Given the description of an element on the screen output the (x, y) to click on. 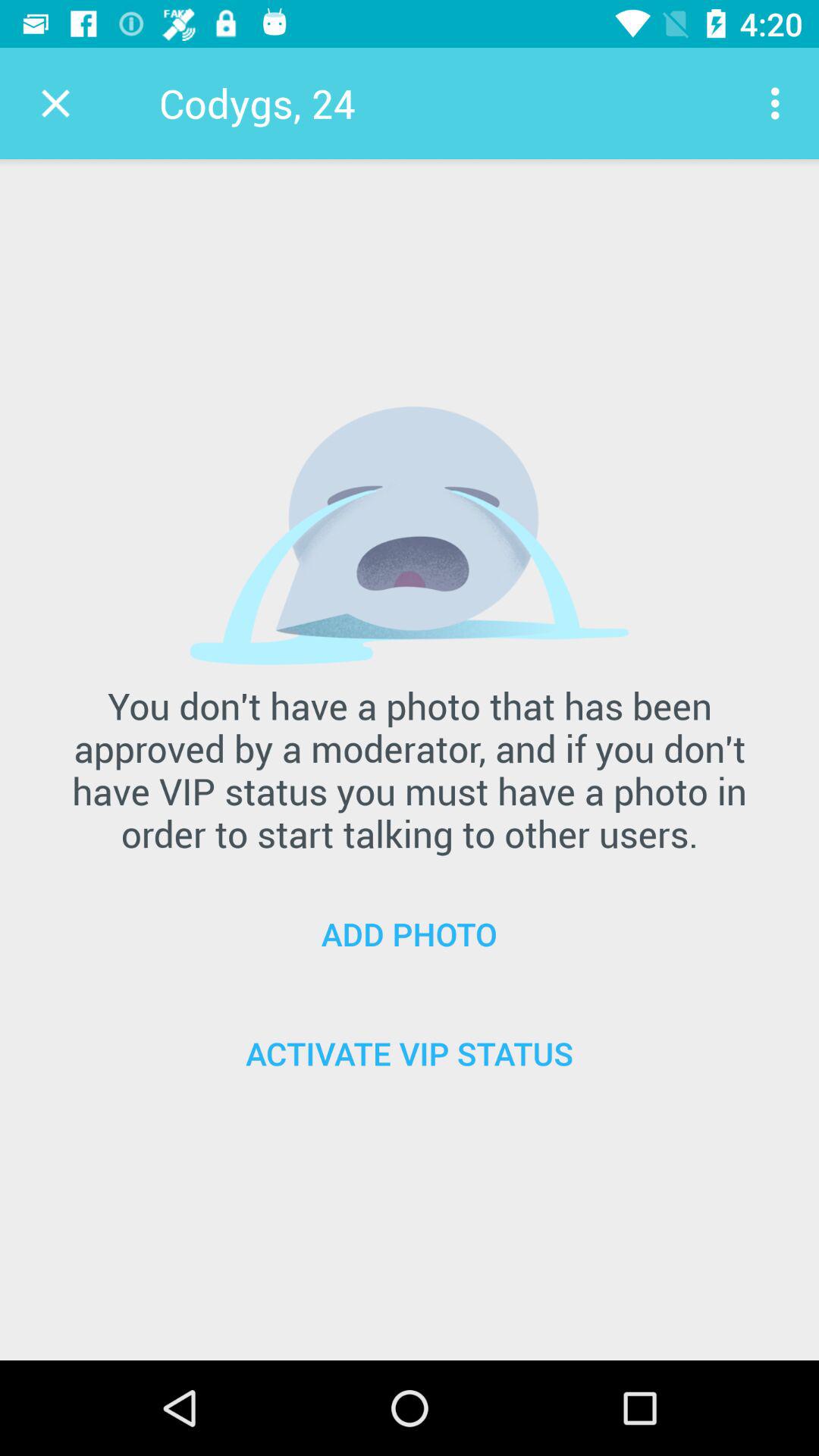
launch the item next to codygs, 24 icon (55, 103)
